Given the description of an element on the screen output the (x, y) to click on. 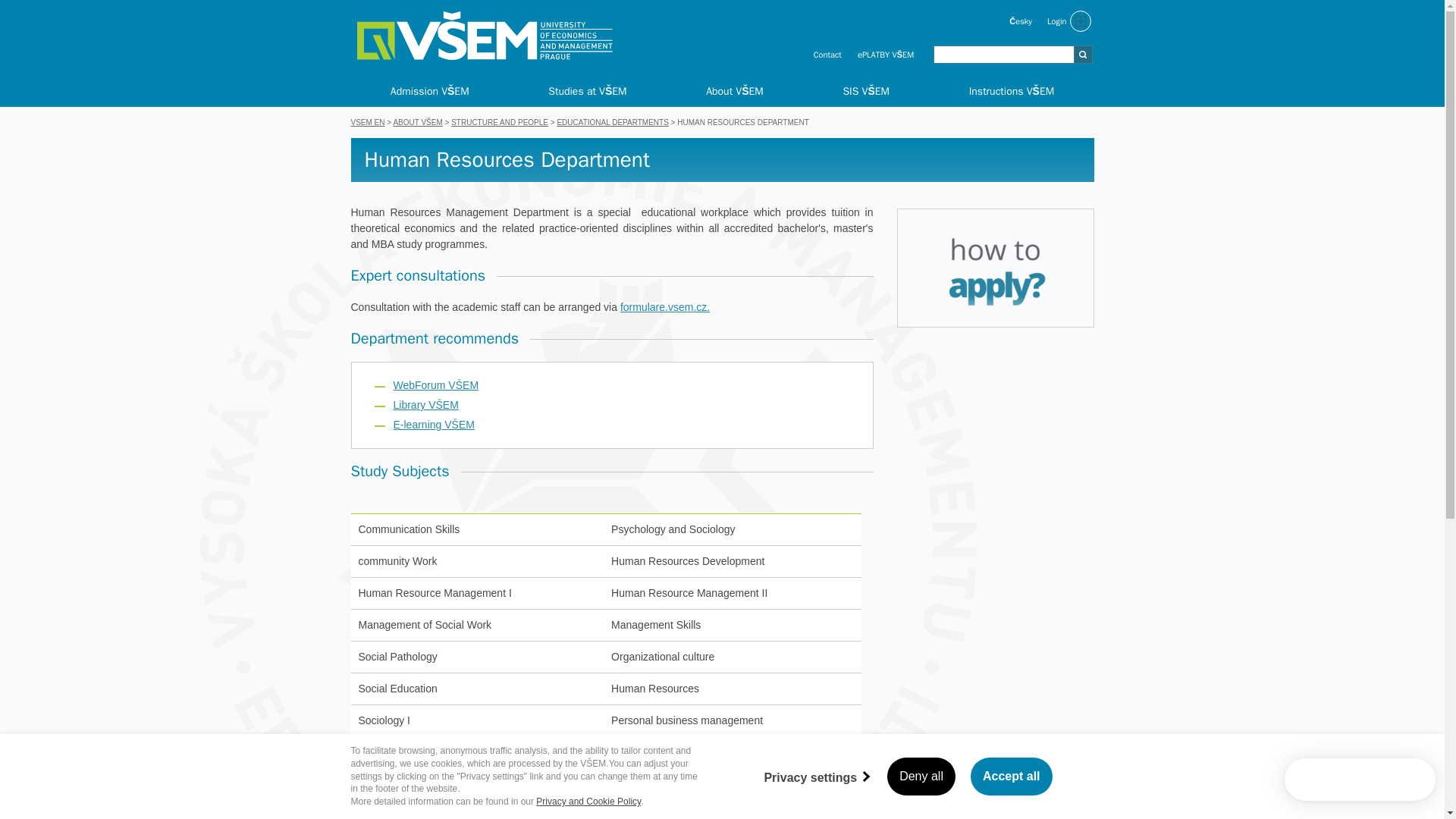
Contact (827, 53)
Login (1070, 21)
